Given the description of an element on the screen output the (x, y) to click on. 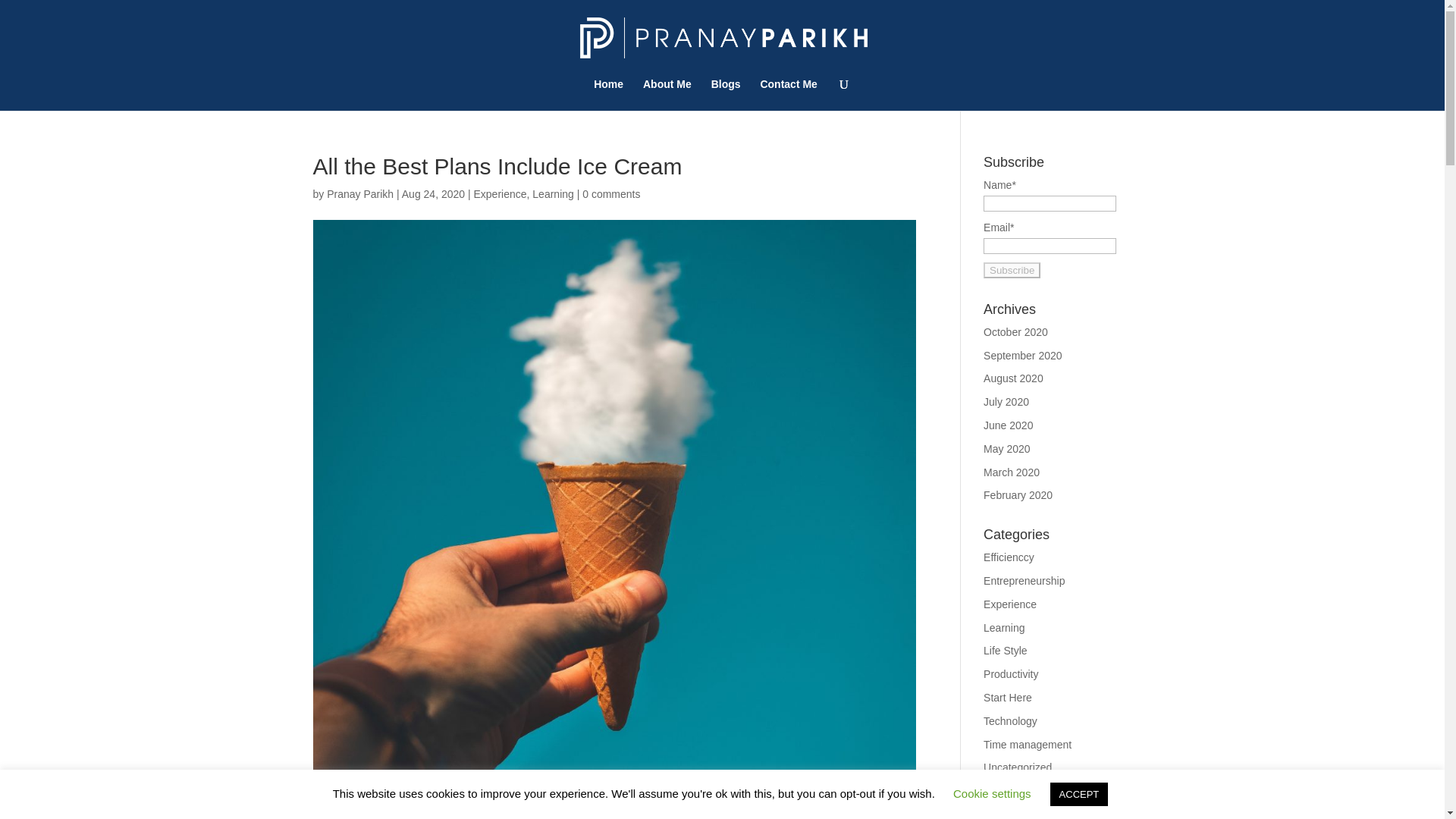
Experience (499, 193)
Start Here (1008, 697)
May 2020 (1006, 449)
Efficienccy (1008, 557)
August 2020 (1013, 378)
June 2020 (1008, 425)
Subscribe (1012, 270)
Learning (552, 193)
Life Style (1005, 650)
Blogs (726, 94)
March 2020 (1011, 472)
Subscribe (1012, 270)
February 2020 (1018, 494)
Technology (1010, 720)
July 2020 (1006, 401)
